Given the description of an element on the screen output the (x, y) to click on. 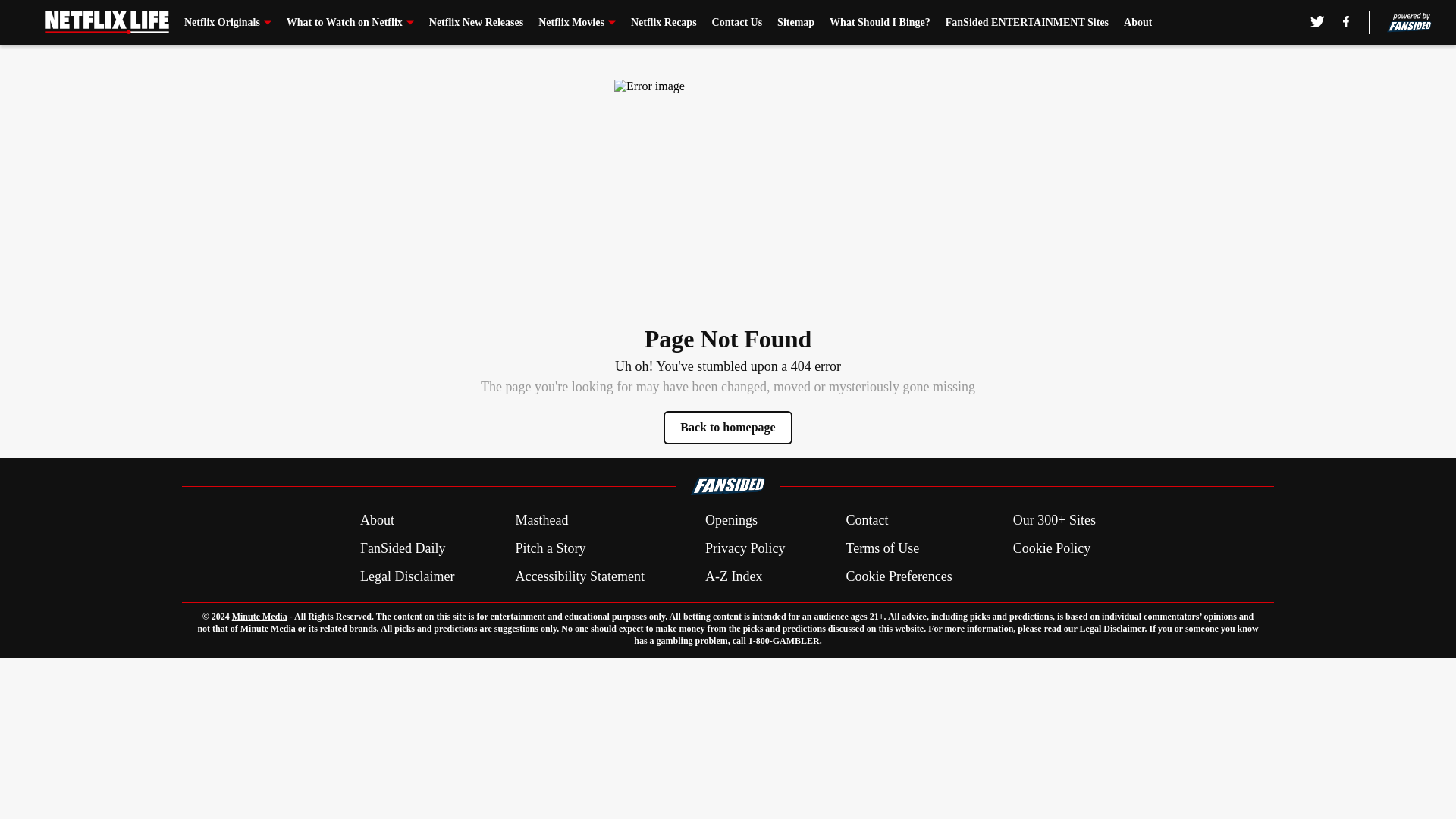
Error image (727, 193)
Netflix New Releases (475, 22)
Netflix Originals (227, 22)
Netflix Movies (576, 22)
What to Watch on Netflix (349, 22)
